Given the description of an element on the screen output the (x, y) to click on. 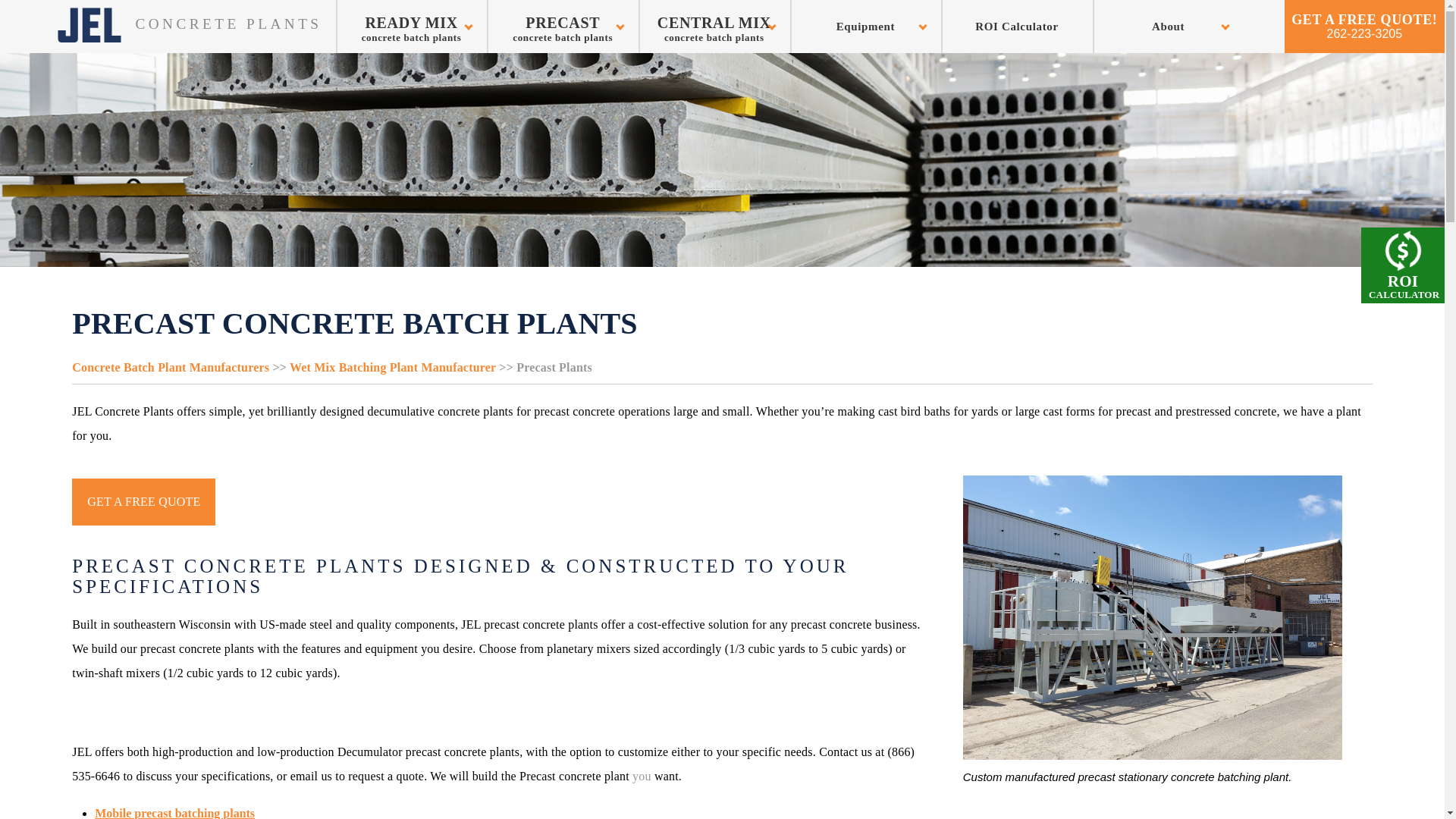
GET A FREE QUOTE (143, 501)
Concrete Batch Plant Manufacturers (170, 367)
Wet Mix Batching Plant Manufacturer (392, 367)
About (1168, 26)
Equipment (866, 26)
Mobile precast batching plants (174, 812)
ROI Calculator (562, 26)
